Given the description of an element on the screen output the (x, y) to click on. 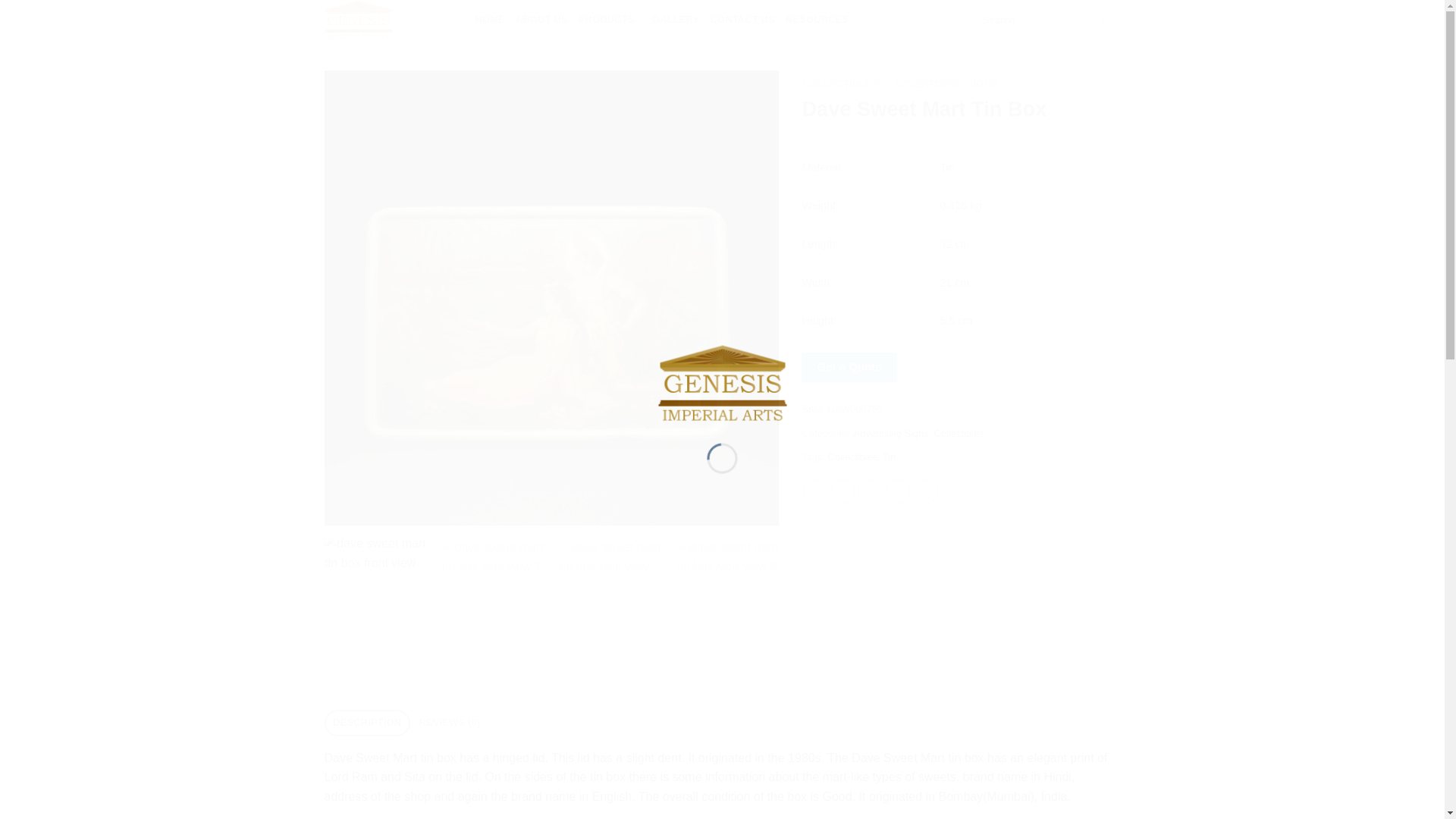
Share on Facebook (815, 491)
ABOUT US (541, 19)
Share on Twitter (842, 491)
Email to a Friend (869, 491)
HOME (488, 19)
CONTACT US (742, 19)
Search (1105, 20)
PRODUCTS (610, 19)
Genesis - Timeless Arts (388, 20)
GALLERY (675, 19)
RESOURCES (821, 19)
Share on LinkedIn (924, 491)
Genesis - Timeless Arts (722, 382)
Pin on Pinterest (897, 491)
